Given the description of an element on the screen output the (x, y) to click on. 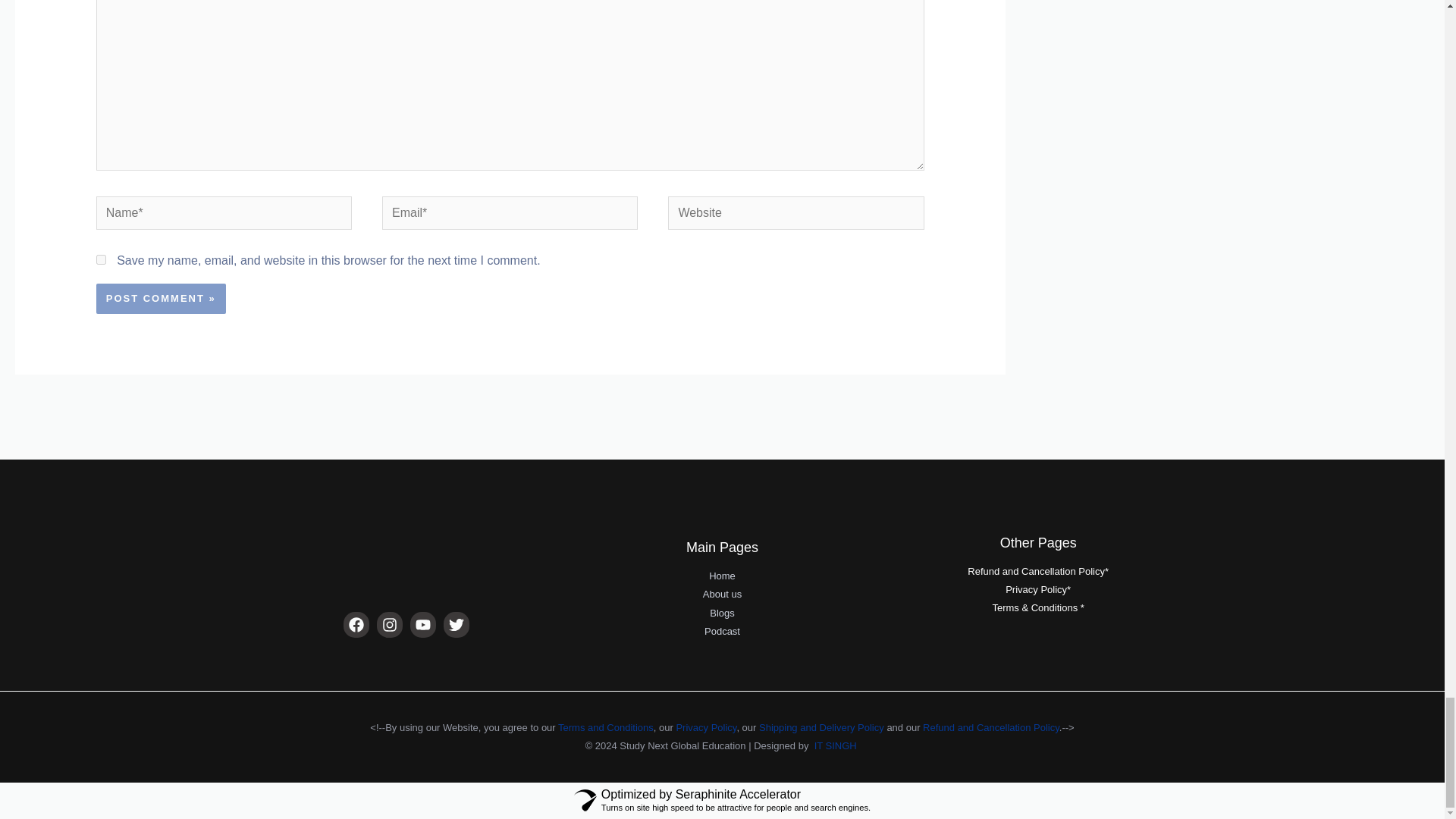
yes (101, 259)
